Given the description of an element on the screen output the (x, y) to click on. 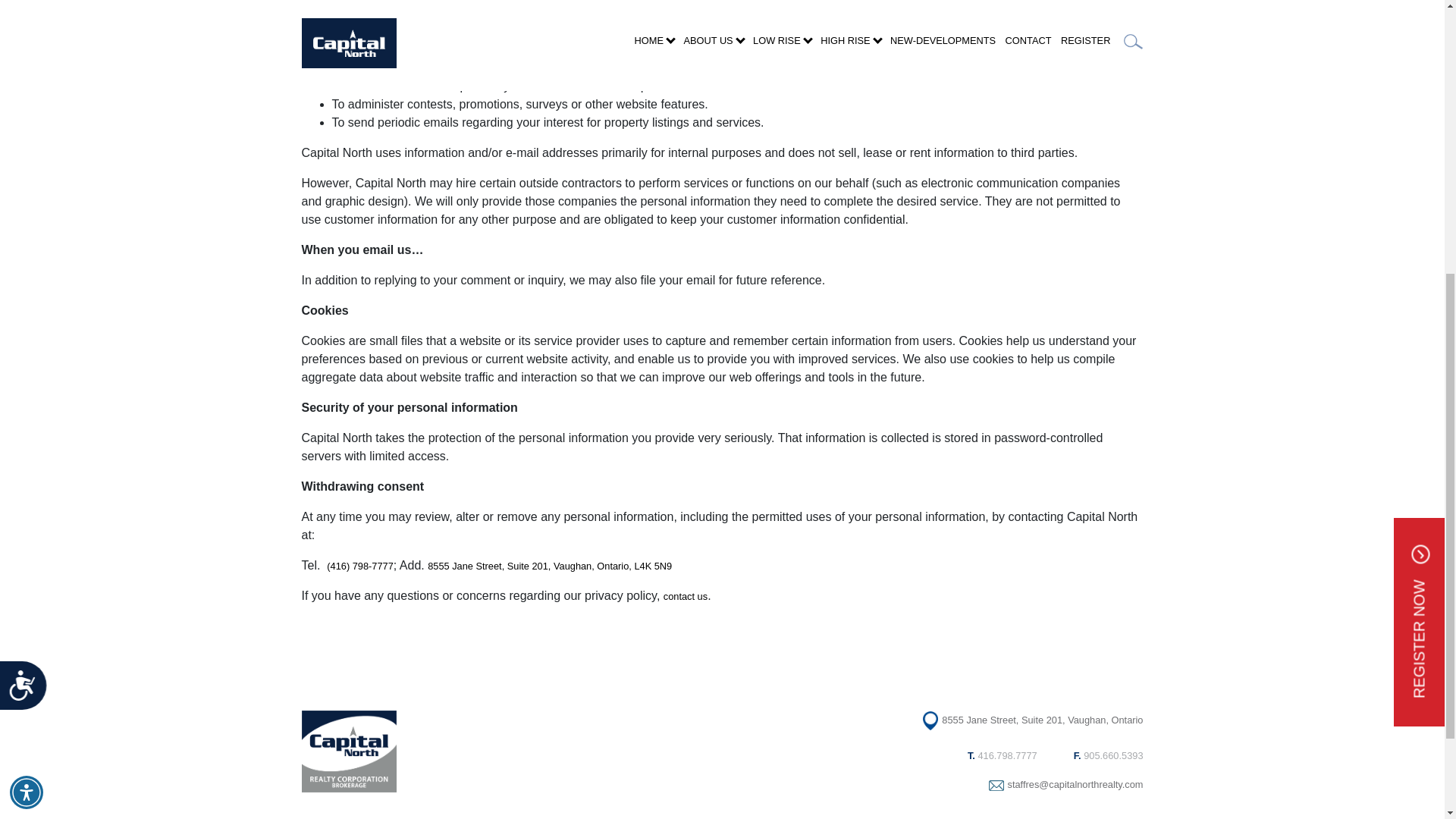
contact us (685, 595)
Accessibility (29, 229)
8555 Jane Street, Suite 201, Vaughan, Ontario, L4K 5N9 (549, 565)
Accessibility Menu (26, 329)
